Given the description of an element on the screen output the (x, y) to click on. 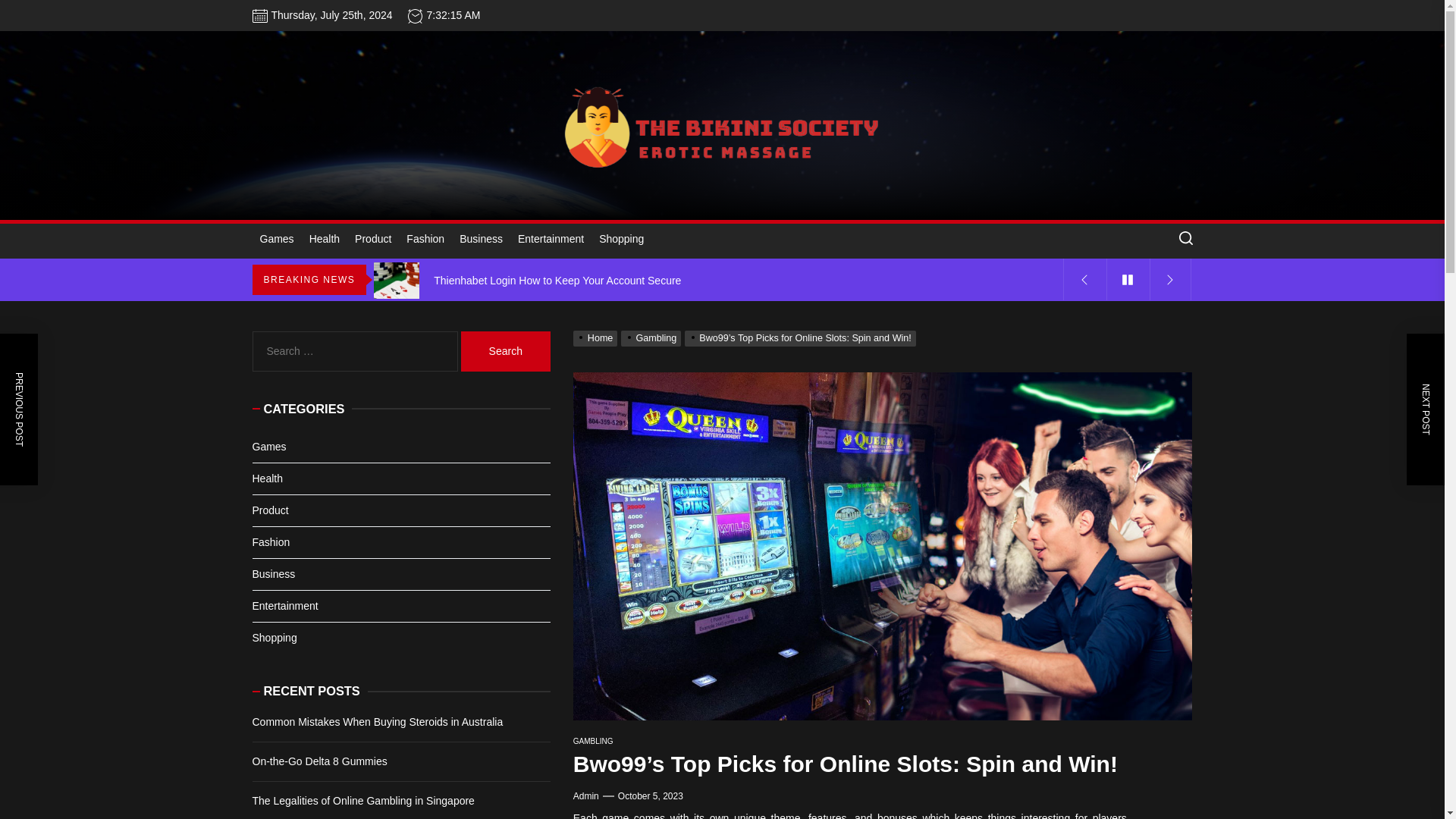
Bet88 Football Betting Tips and Strategies (720, 238)
Games (276, 239)
Admin (585, 796)
Search (505, 351)
Thienhabet Login How to Keep Your Account Secure (720, 280)
Thienhabet Login How to Keep Your Account Secure (720, 280)
GAMBLING (592, 740)
Shopping (620, 239)
Fashion (424, 239)
Search (505, 351)
Product (372, 239)
Entertainment (551, 239)
Home (597, 337)
Health (324, 239)
Business (481, 239)
